Given the description of an element on the screen output the (x, y) to click on. 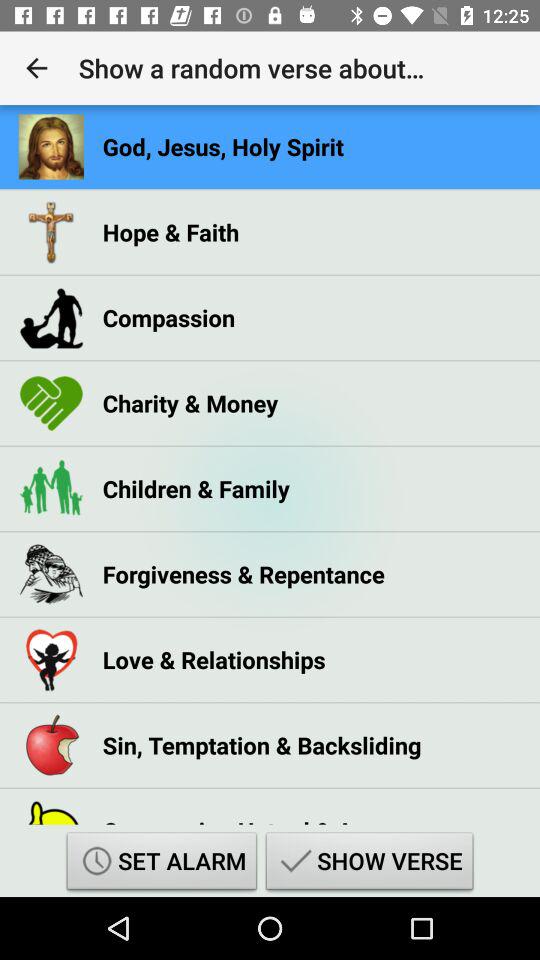
turn on overcoming hatred & anger item (251, 814)
